Given the description of an element on the screen output the (x, y) to click on. 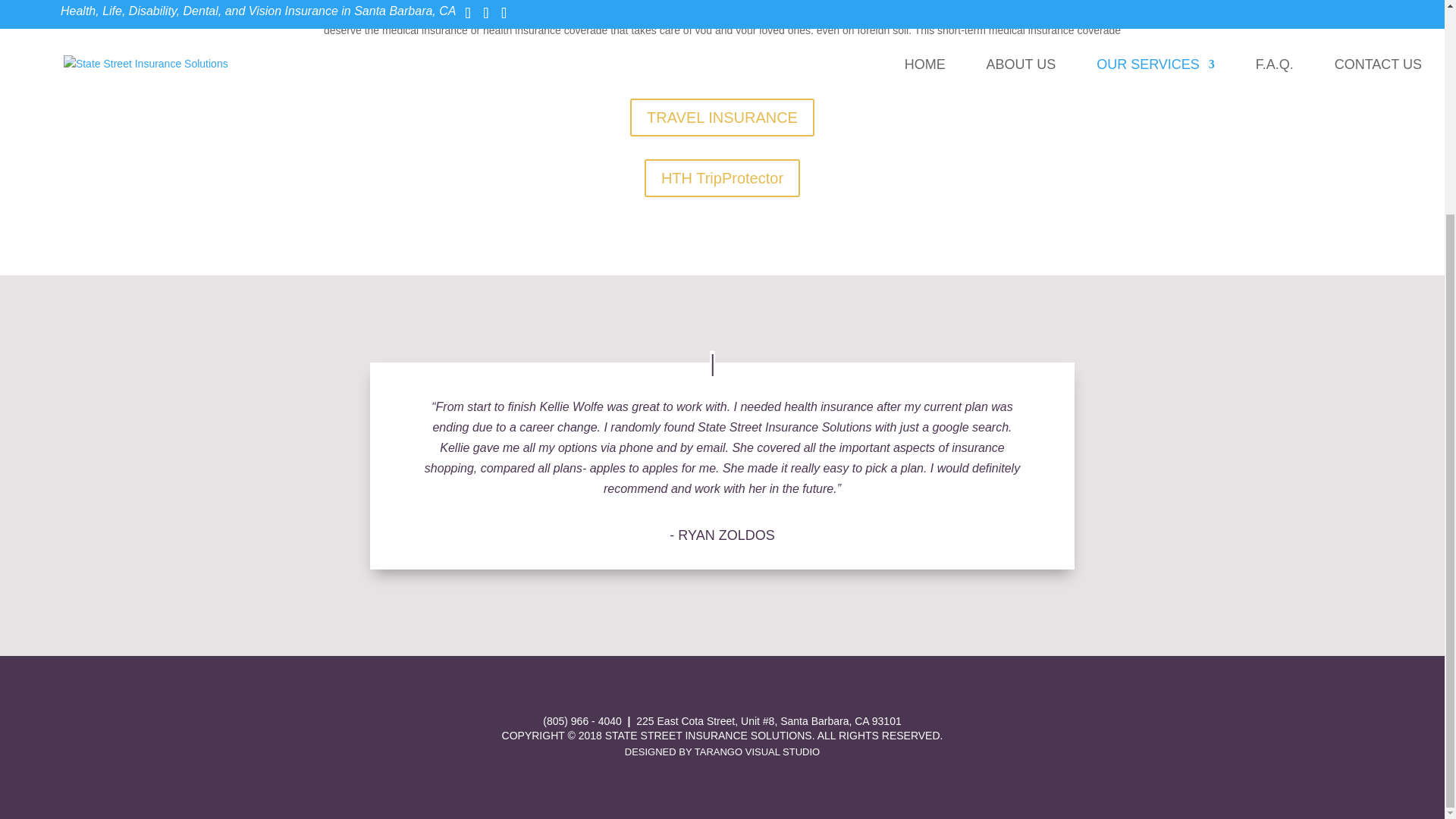
DESIGNED BY TARANGO VISUAL STUDIO (721, 751)
HTH TripProtector (722, 177)
Page 7 (722, 40)
TRAVEL INSURANCE (721, 117)
